Given the description of an element on the screen output the (x, y) to click on. 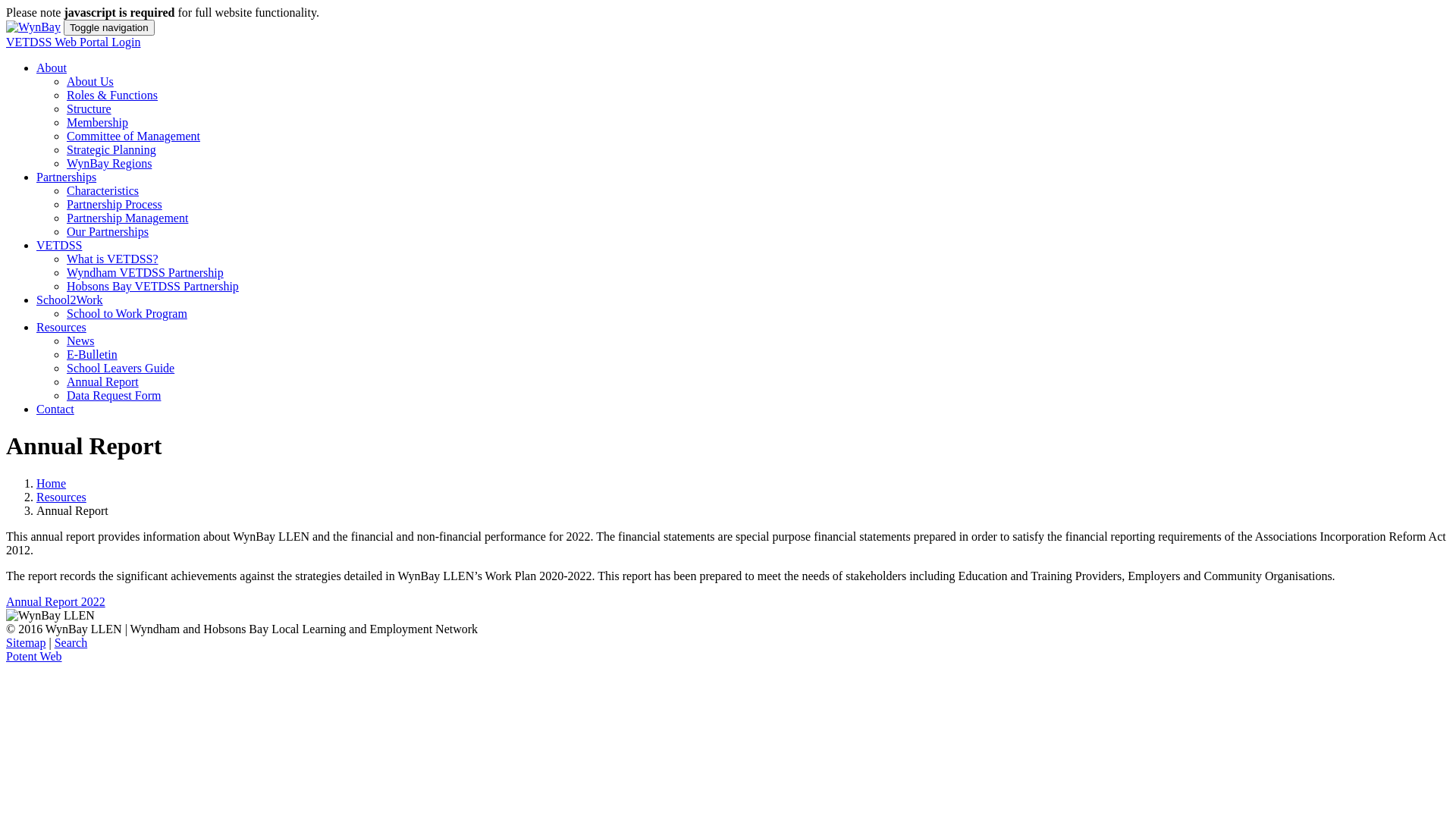
Potent Web Element type: text (34, 655)
WynBay Regions Element type: text (108, 162)
Partnership Management Element type: text (127, 217)
About Us Element type: text (89, 81)
School Leavers Guide Element type: text (120, 367)
Strategic Planning Element type: text (111, 149)
Toggle navigation Element type: text (108, 27)
Roles & Functions Element type: text (111, 94)
School to Work Program Element type: text (126, 313)
News Element type: text (80, 340)
Resources Element type: text (61, 496)
Wyndham VETDSS Partnership Element type: text (144, 272)
Home Element type: text (50, 482)
What is VETDSS? Element type: text (112, 258)
Hobsons Bay VETDSS Partnership Element type: text (152, 285)
About Element type: text (51, 67)
School2Work Element type: text (69, 299)
Partnership Process Element type: text (114, 203)
Annual Report Element type: text (102, 381)
VETDSS Element type: text (58, 244)
Sitemap Element type: text (25, 642)
Data Request Form Element type: text (113, 395)
Committee of Management Element type: text (133, 135)
Structure Element type: text (88, 108)
Our Partnerships Element type: text (107, 231)
Search Element type: text (70, 642)
VETDSS Web Portal Login Element type: text (73, 41)
E-Bulletin Element type: text (91, 354)
Membership Element type: text (97, 122)
Partnerships Element type: text (66, 176)
Contact Element type: text (55, 408)
Annual Report 2022 Element type: text (55, 601)
Characteristics Element type: text (102, 190)
Resources Element type: text (61, 326)
